Given the description of an element on the screen output the (x, y) to click on. 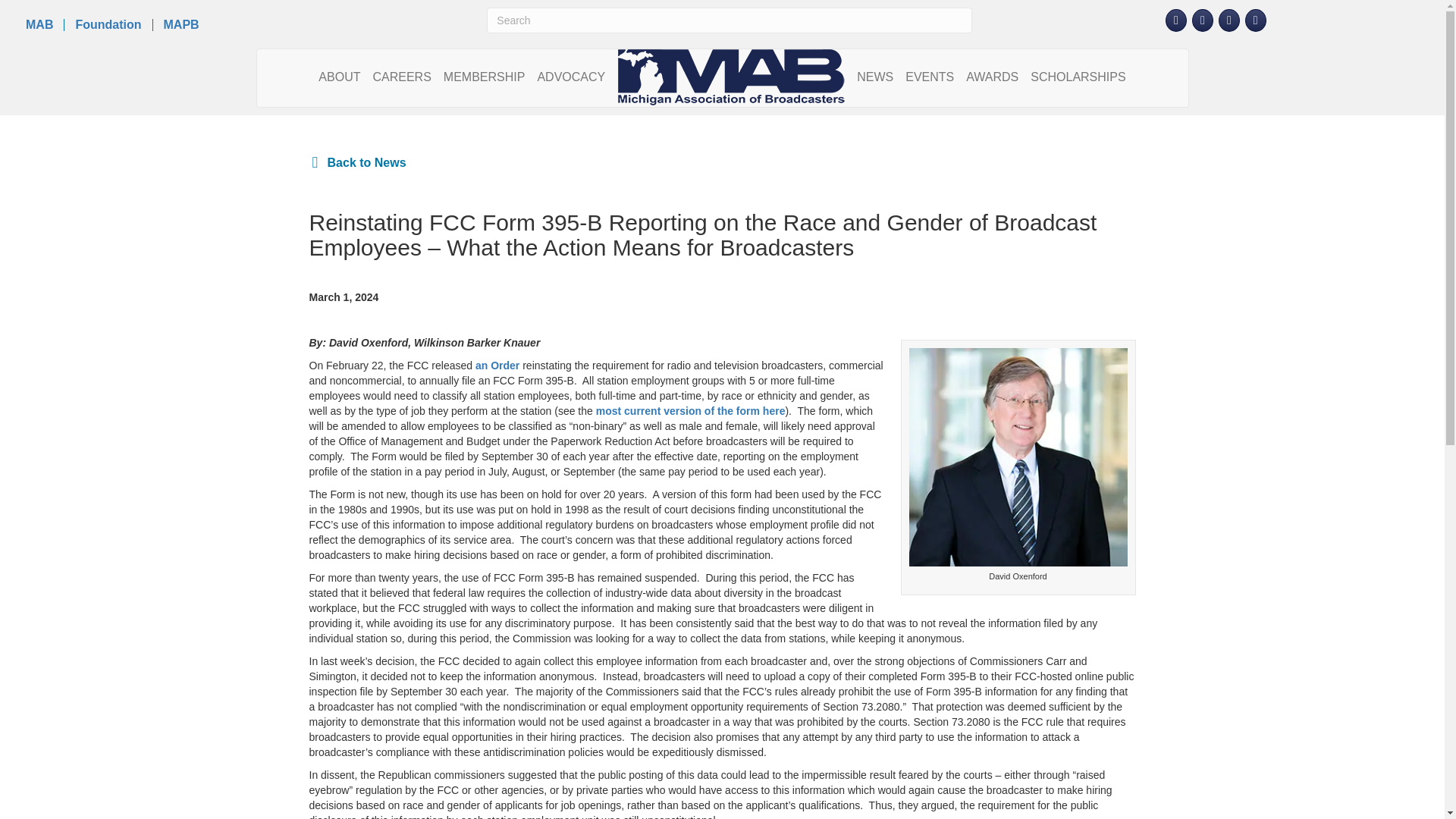
Type and press Enter to search. (728, 20)
